Given the description of an element on the screen output the (x, y) to click on. 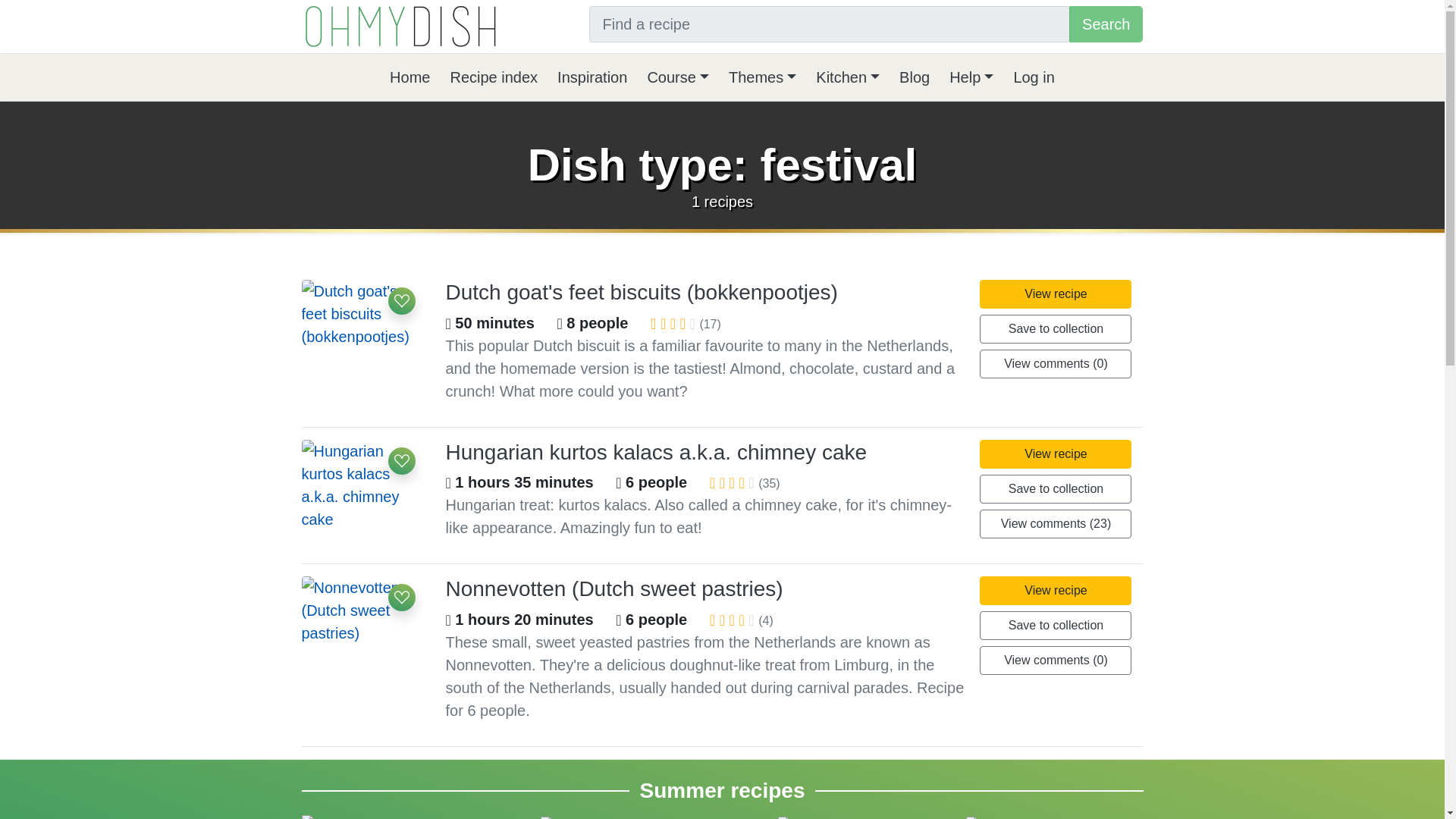
Search (1105, 23)
Average rating (712, 482)
Aantal personen (618, 620)
Search (1105, 23)
Aantal personen (618, 482)
Average rating (741, 482)
Average rating (682, 323)
Average rating (653, 323)
Kooktijd (448, 620)
Average rating (722, 482)
Inspiration (592, 77)
Average rating (663, 323)
Average rating (741, 620)
Average rating (732, 620)
Course (677, 77)
